Given the description of an element on the screen output the (x, y) to click on. 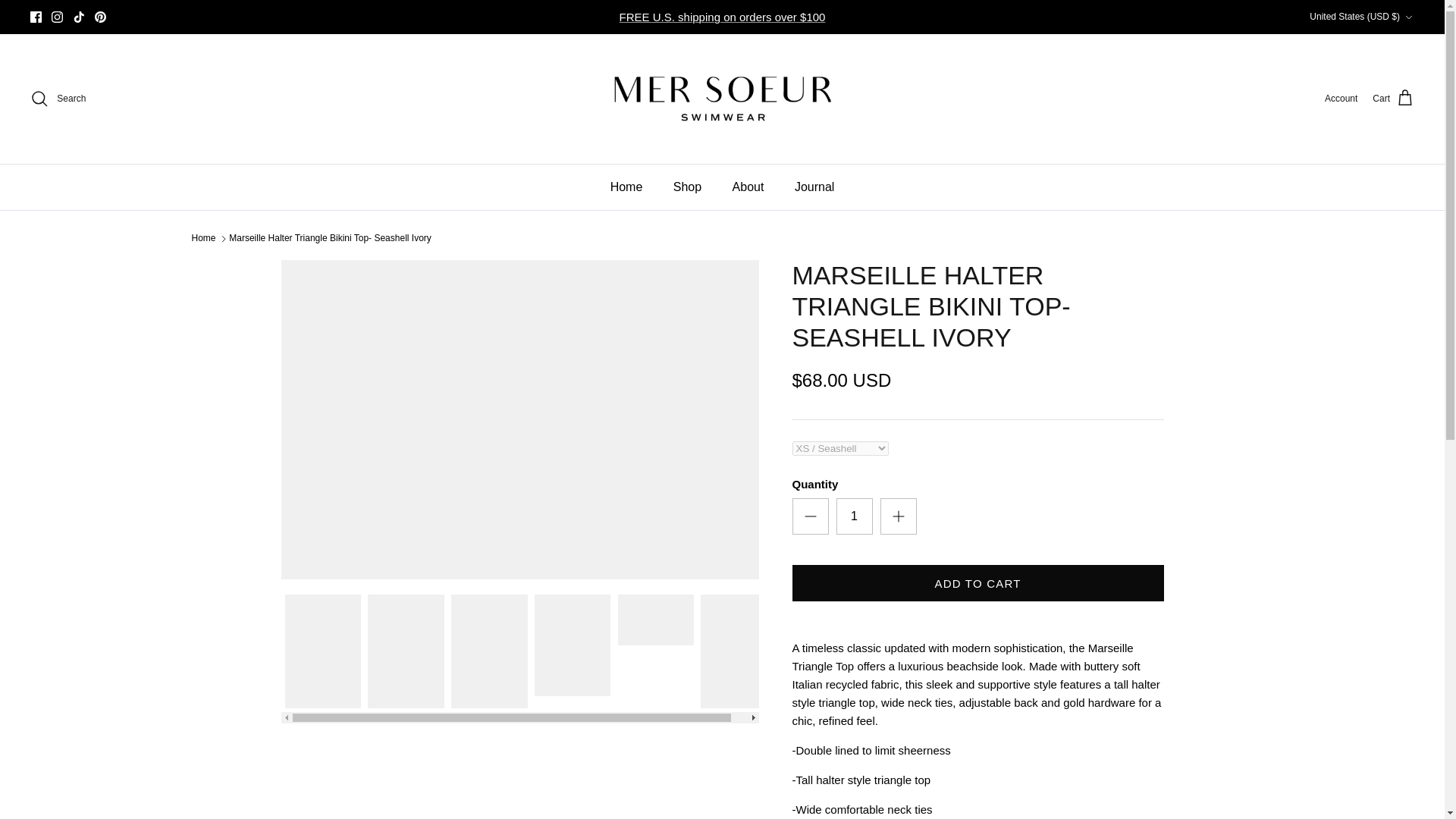
Mer Soeur Swimwear (721, 98)
1 (853, 515)
Plus (897, 515)
Pinterest (100, 16)
All Swim (722, 16)
Instagram (56, 16)
Minus (809, 515)
Instagram (56, 16)
Down (1408, 17)
Facebook (36, 16)
